Given the description of an element on the screen output the (x, y) to click on. 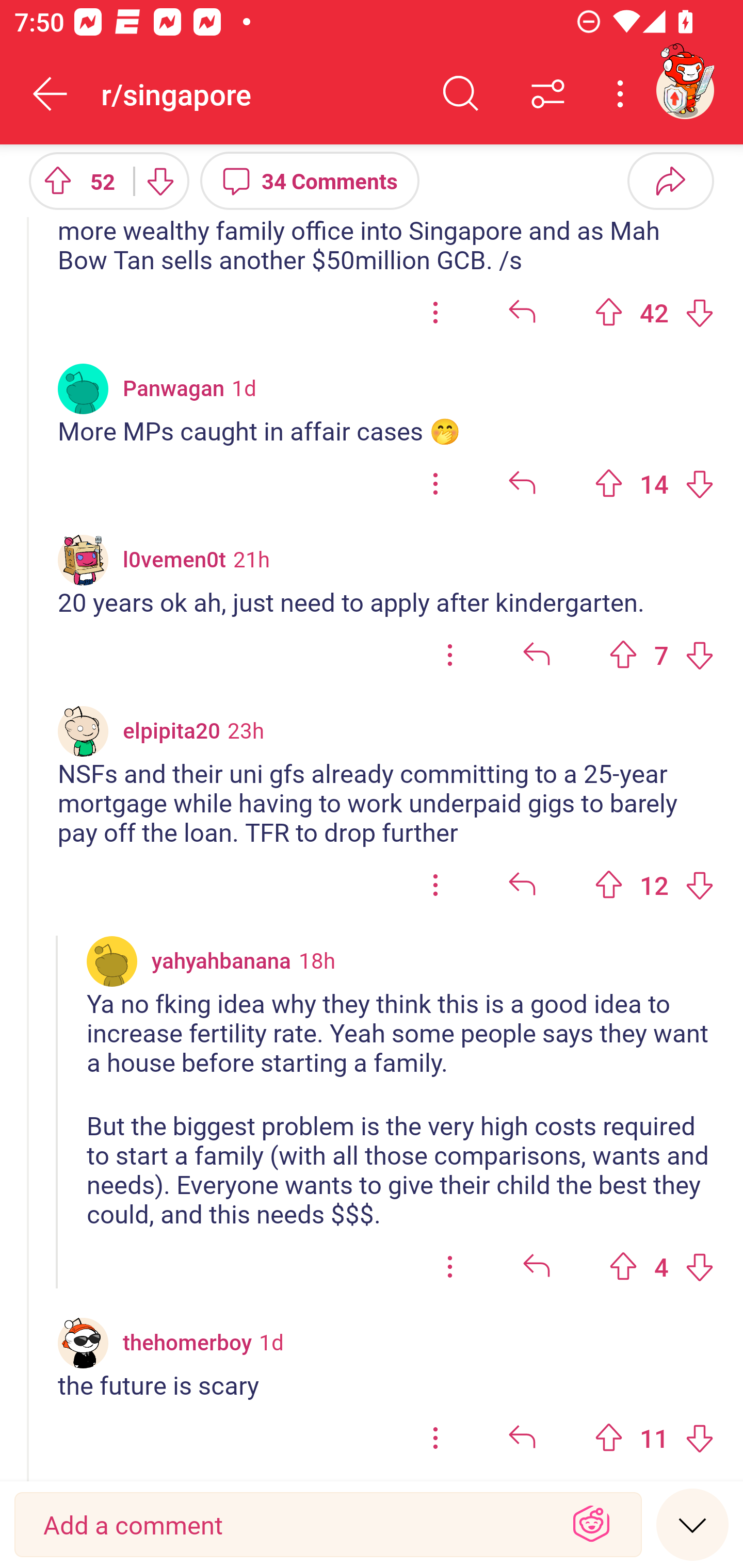
Back (50, 93)
TestAppium002 account (685, 90)
Search comments (460, 93)
Sort comments (547, 93)
More options (623, 93)
r/singapore (259, 92)
Upvote 52 (73, 180)
Downvote (158, 180)
34 Comments (309, 180)
Share (670, 180)
options (435, 311)
Upvote 42 42 votes Downvote (654, 311)
Avatar (82, 388)
More MPs caught in affair cases 🤭 (385, 430)
options (435, 484)
Upvote 14 14 votes Downvote (654, 484)
Custom avatar (82, 559)
options (449, 655)
Upvote 7 7 votes Downvote (661, 655)
Custom avatar (82, 730)
options (435, 884)
Upvote 12 12 votes Downvote (654, 884)
Avatar (111, 961)
options (449, 1266)
Upvote 4 4 votes Downvote (661, 1266)
Custom avatar (82, 1342)
the future is scary (385, 1384)
options (435, 1437)
Upvote 11 11 votes Downvote (654, 1437)
Speed read (692, 1524)
Add a comment (291, 1524)
Show Expressions (590, 1524)
